Given the description of an element on the screen output the (x, y) to click on. 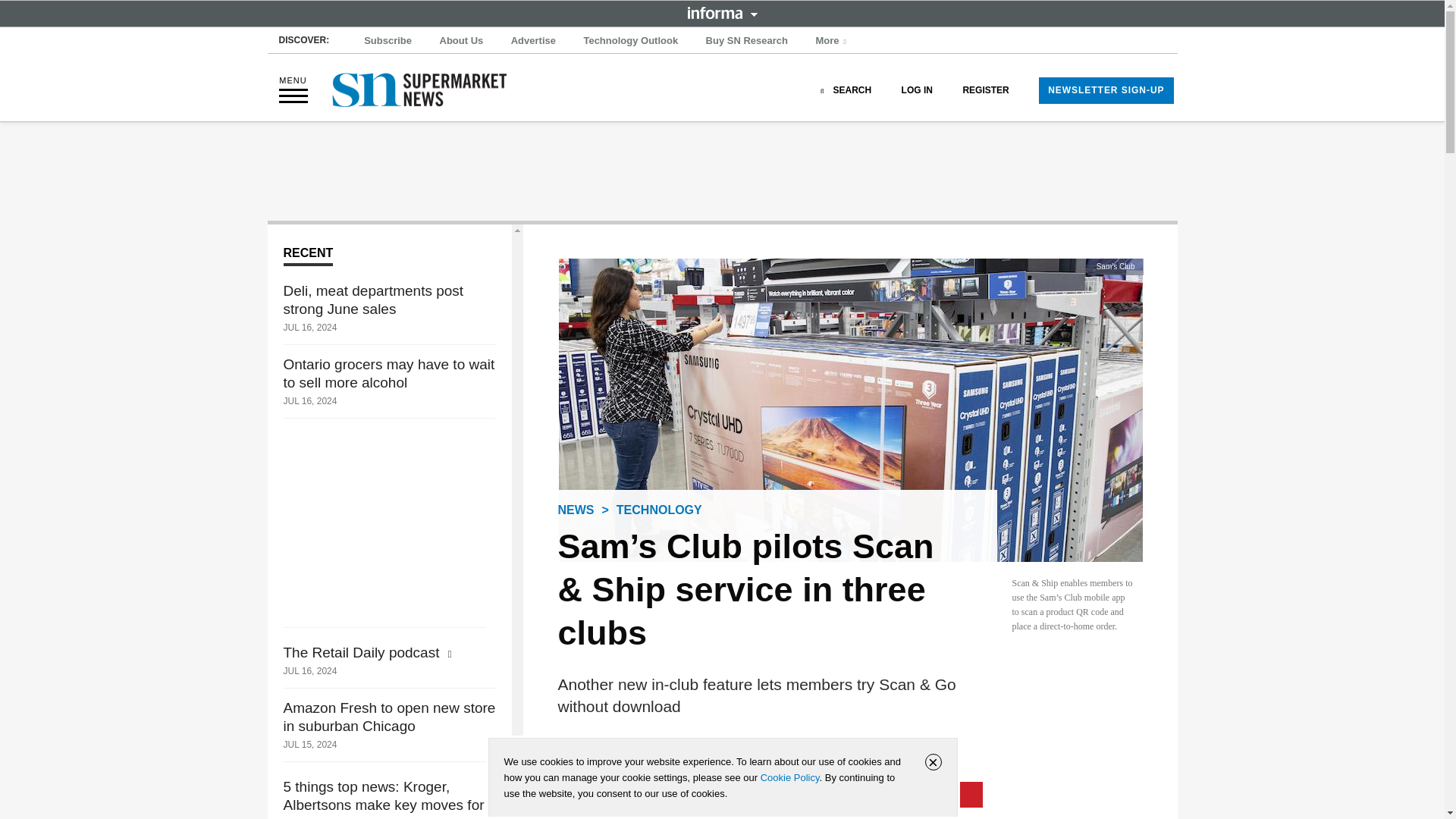
Subscribe (387, 41)
Advertise (533, 41)
About Us (461, 41)
More (832, 41)
INFORMA (722, 12)
Cookie Policy (789, 777)
Technology Outlook (630, 41)
Buy SN Research (746, 41)
